Given the description of an element on the screen output the (x, y) to click on. 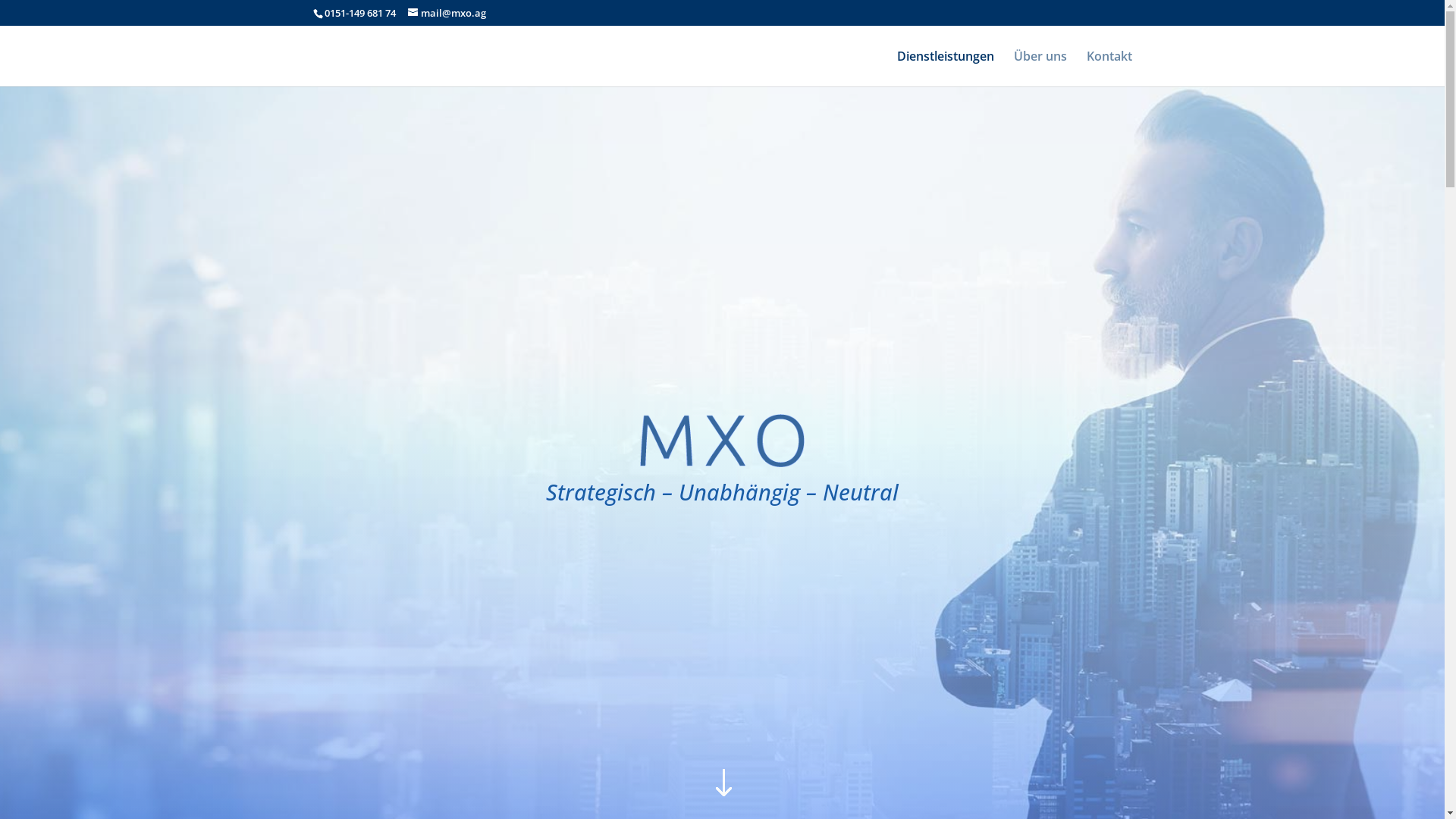
" Element type: text (721, 783)
Dienstleistungen Element type: text (944, 67)
Kontakt Element type: text (1108, 67)
mail@mxo.ag Element type: text (446, 12)
